Given the description of an element on the screen output the (x, y) to click on. 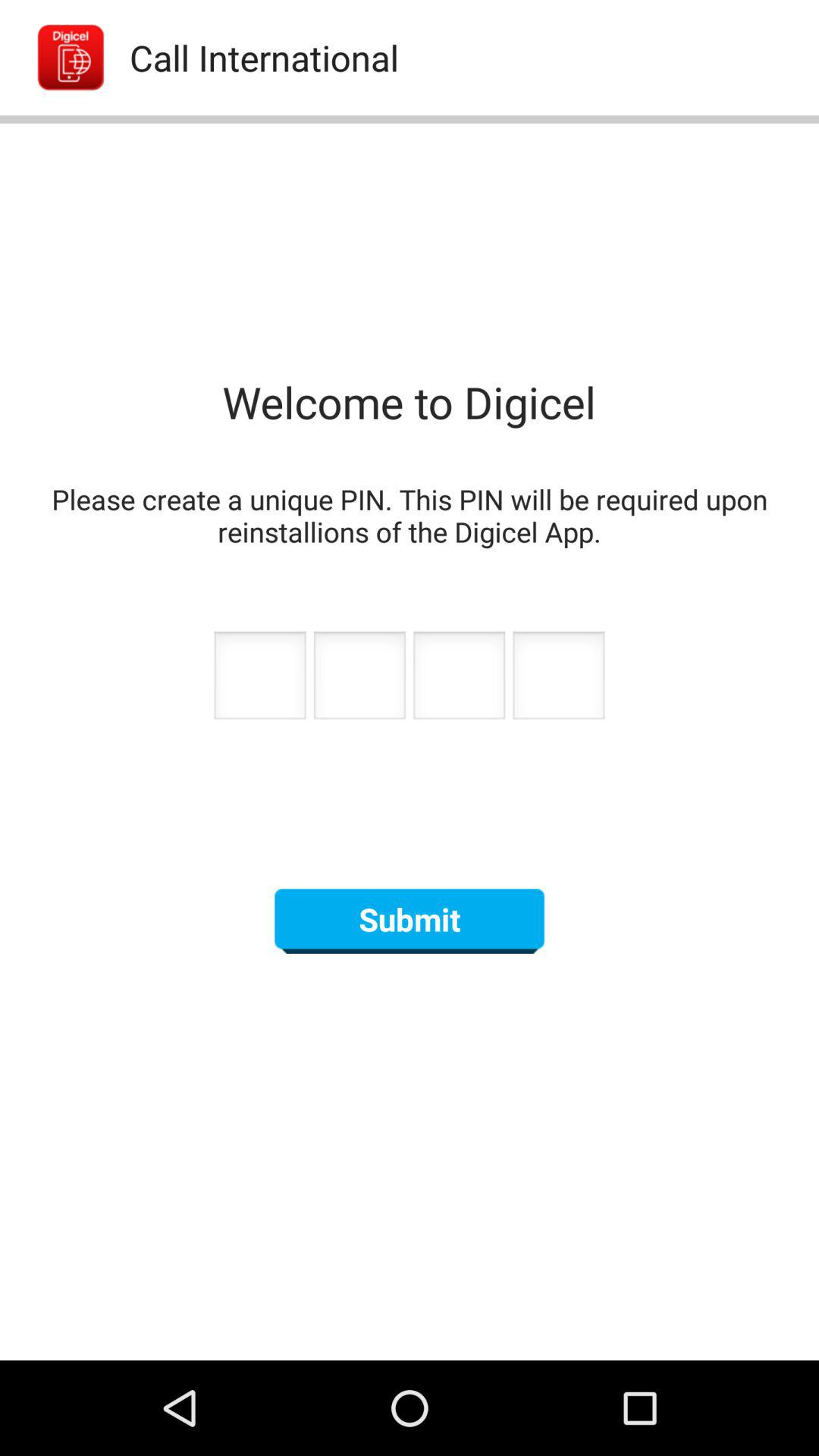
turn on the submit button (409, 920)
